Given the description of an element on the screen output the (x, y) to click on. 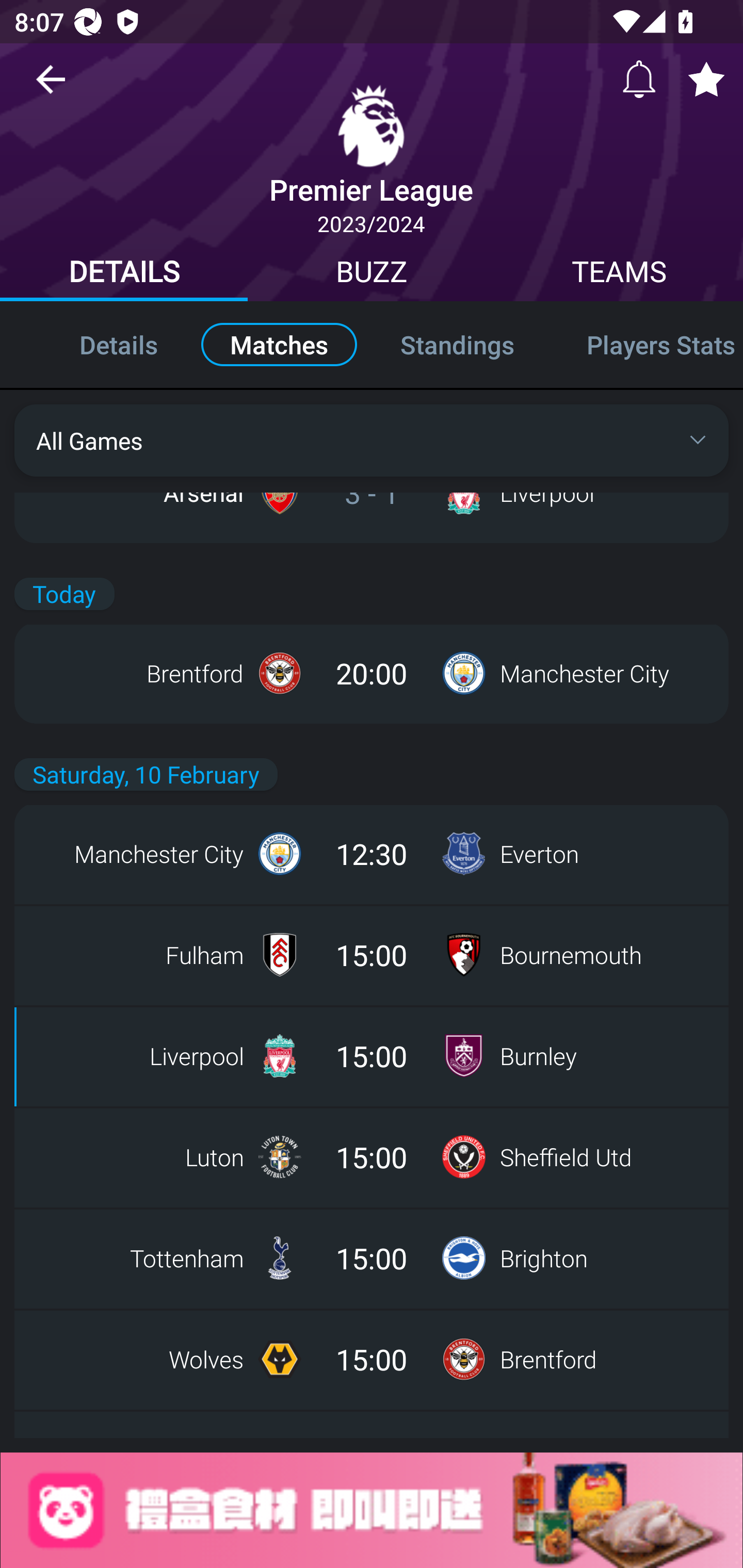
Navigate up (50, 86)
DETAILS (123, 274)
BUZZ (371, 274)
TEAMS (619, 274)
Details (96, 344)
Standings (457, 344)
Players Stats (646, 344)
All Games (371, 440)
Brentford 20:00 Manchester City (371, 673)
Manchester City 12:30 Everton (371, 853)
Fulham 15:00 Bournemouth (371, 954)
Liverpool 15:00 Burnley (371, 1056)
Luton 15:00 Sheffield Utd (371, 1157)
Tottenham 15:00 Brighton (371, 1258)
Wolves 15:00 Brentford (371, 1359)
Advertisement (371, 1509)
